Given the description of an element on the screen output the (x, y) to click on. 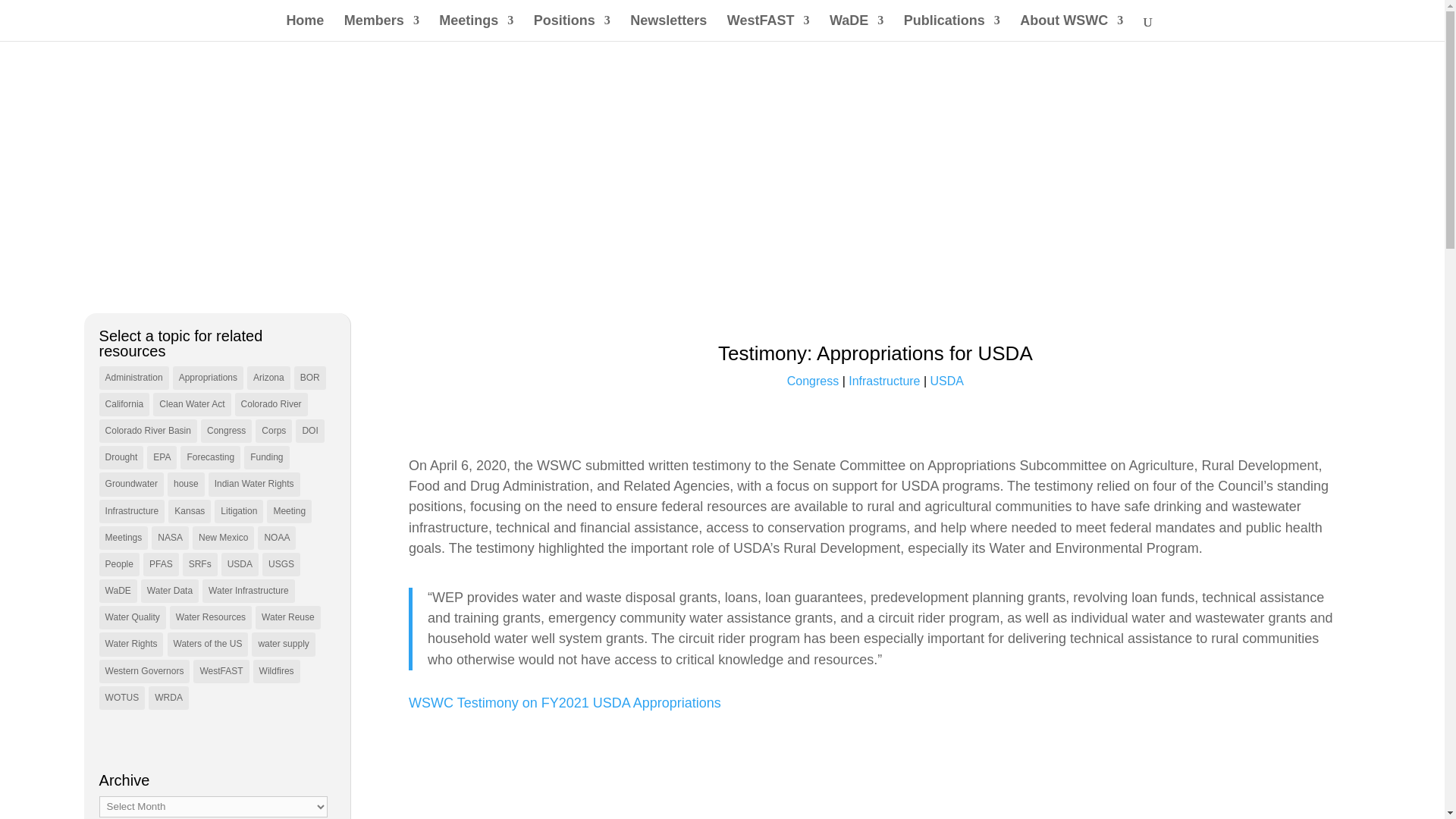
Appropriations (208, 377)
Arizona (268, 377)
About WSWC (1071, 27)
Home (304, 27)
Administration (133, 377)
Newsletters (668, 27)
Publications (952, 27)
Members (381, 27)
WestFAST (767, 27)
Meetings (476, 27)
Positions (572, 27)
WaDE (856, 27)
